Given the description of an element on the screen output the (x, y) to click on. 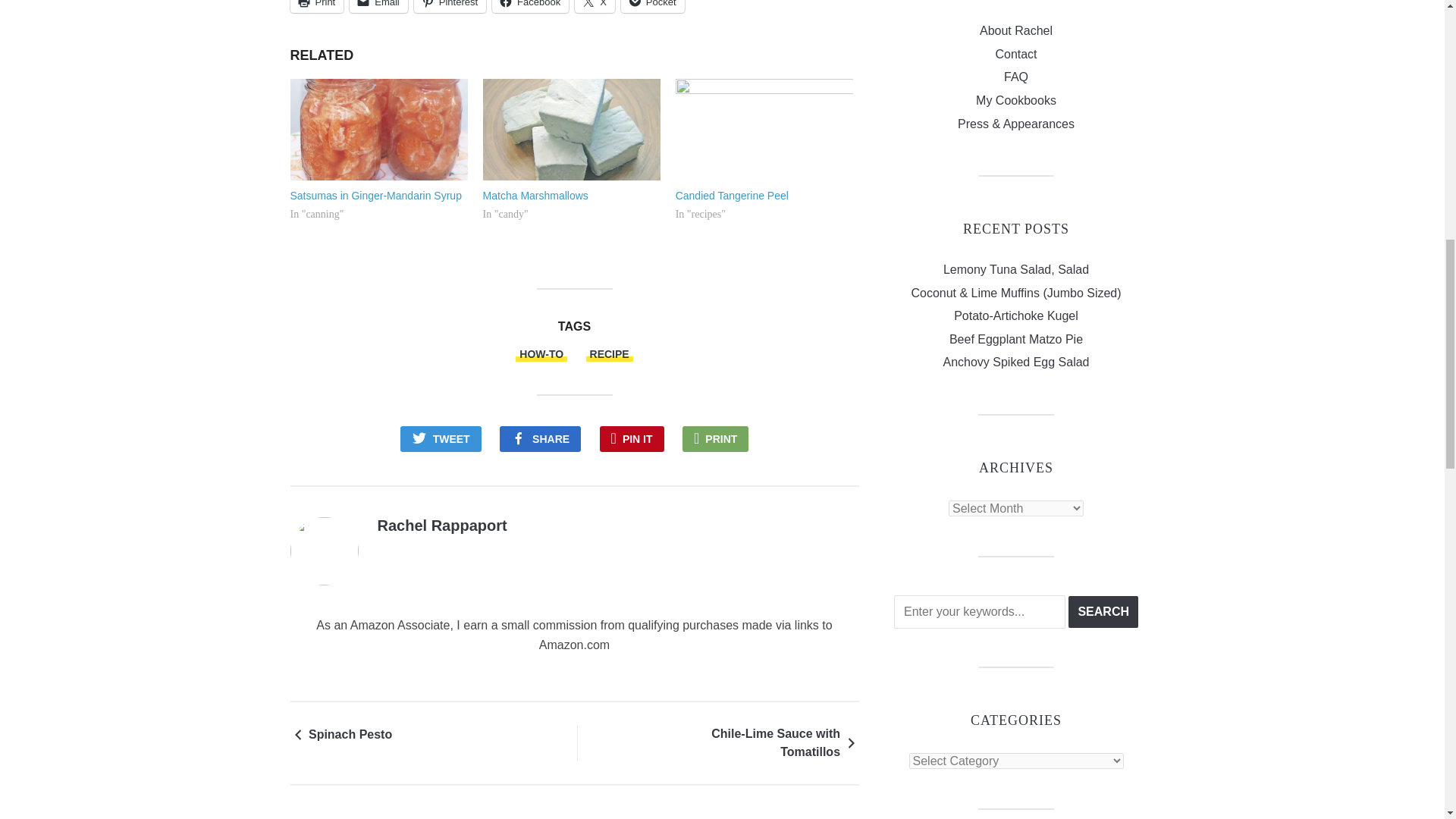
Satsumas in Ginger-Mandarin Syrup (378, 129)
SHARE (539, 438)
Search (1103, 612)
Search (1103, 612)
Print (316, 6)
HOW-TO (541, 353)
Pinterest (449, 6)
Pocket (652, 6)
Matcha Marshmallows (535, 195)
Click to print (316, 6)
